Given the description of an element on the screen output the (x, y) to click on. 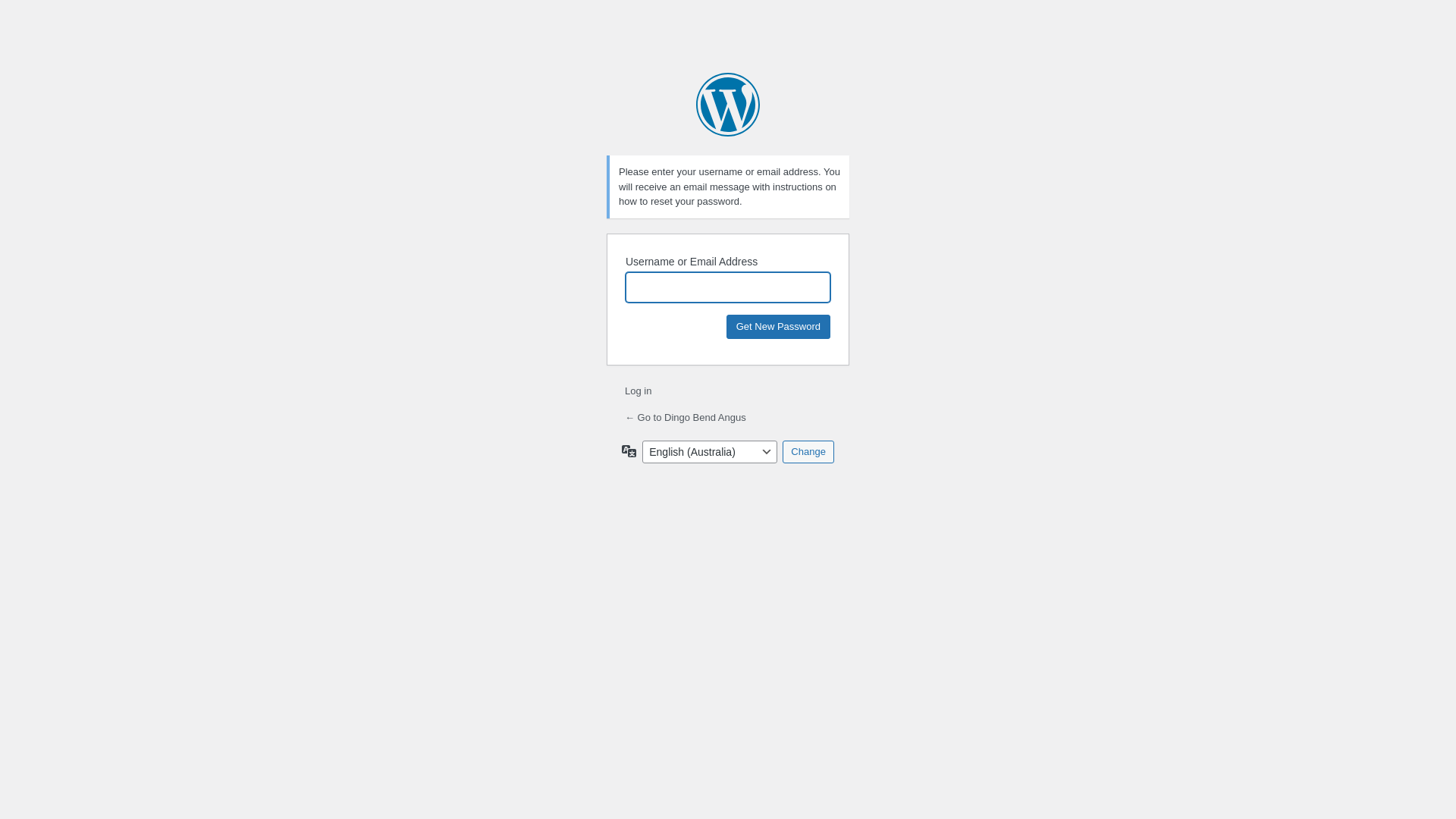
Get New Password Element type: text (778, 325)
Log in Element type: text (637, 390)
Change Element type: text (808, 450)
Powered by WordPress Element type: text (727, 104)
